Given the description of an element on the screen output the (x, y) to click on. 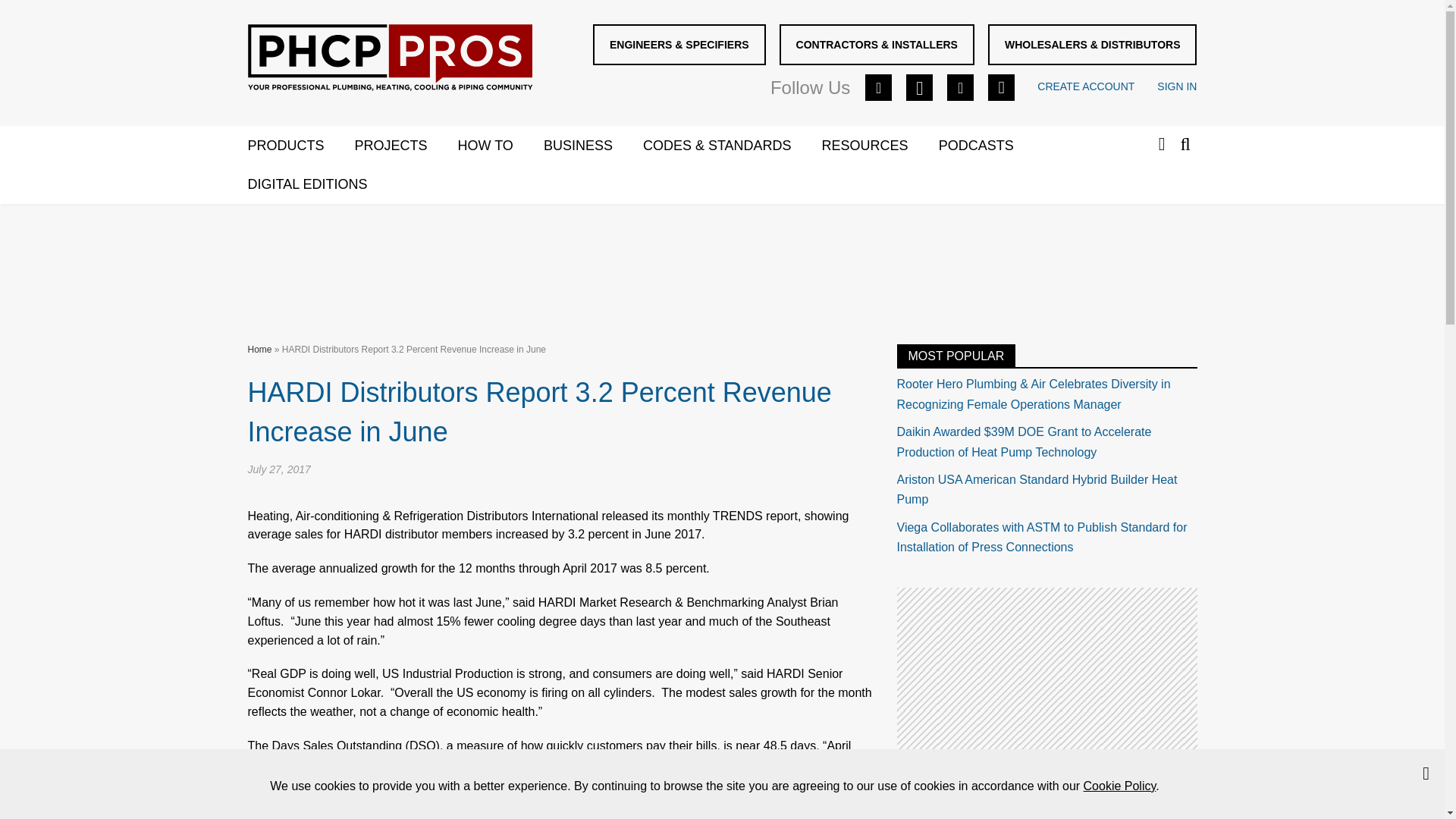
logo (389, 57)
3rd party ad content (721, 260)
3rd party ad content (1046, 682)
